Given the description of an element on the screen output the (x, y) to click on. 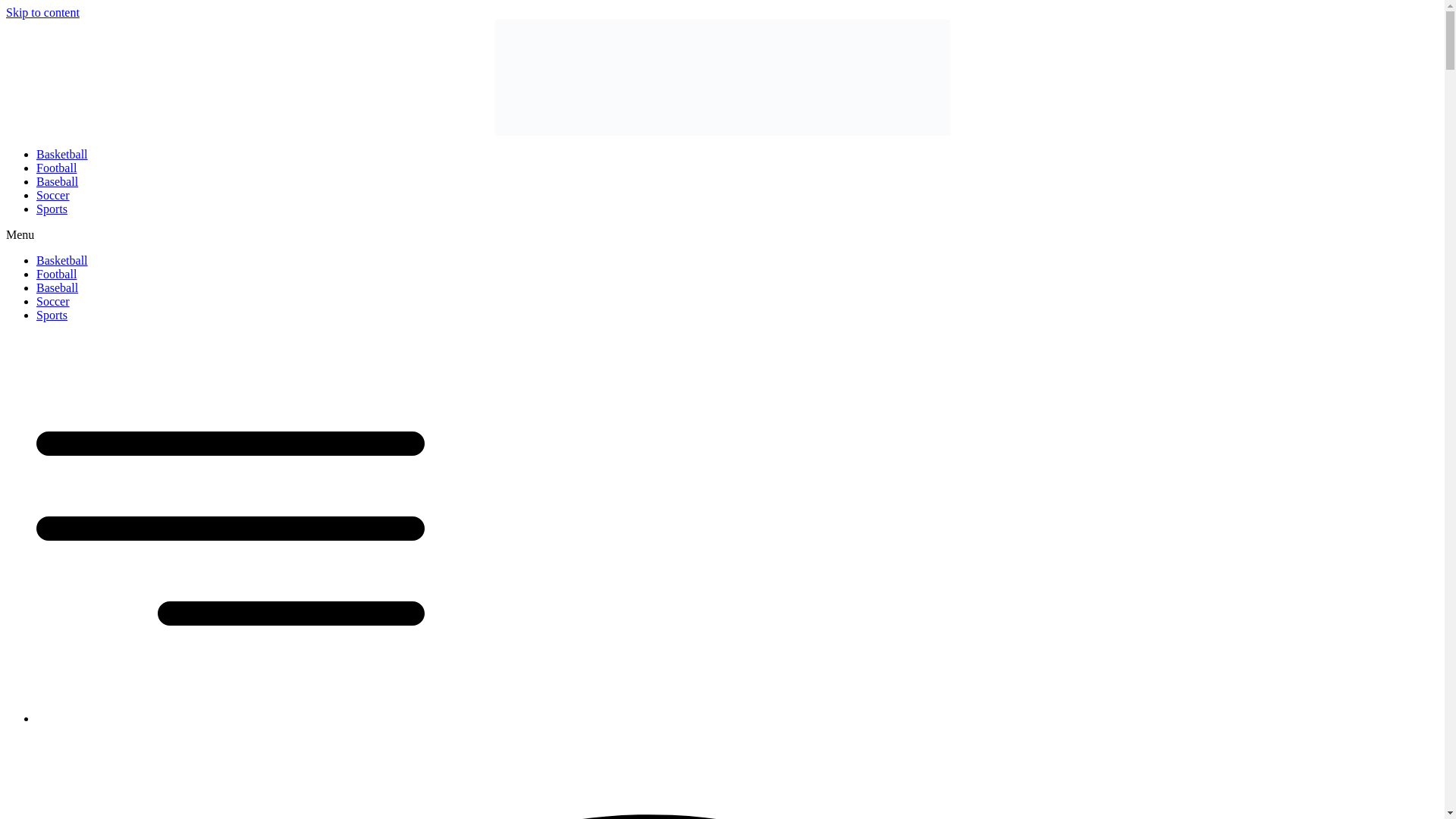
Soccer (52, 300)
Skip to content (42, 11)
Sports (51, 314)
Soccer (52, 195)
Baseball (57, 181)
Basketball (61, 259)
Basketball (61, 154)
Baseball (57, 287)
Sports (51, 208)
Football (56, 167)
Football (56, 273)
